Given the description of an element on the screen output the (x, y) to click on. 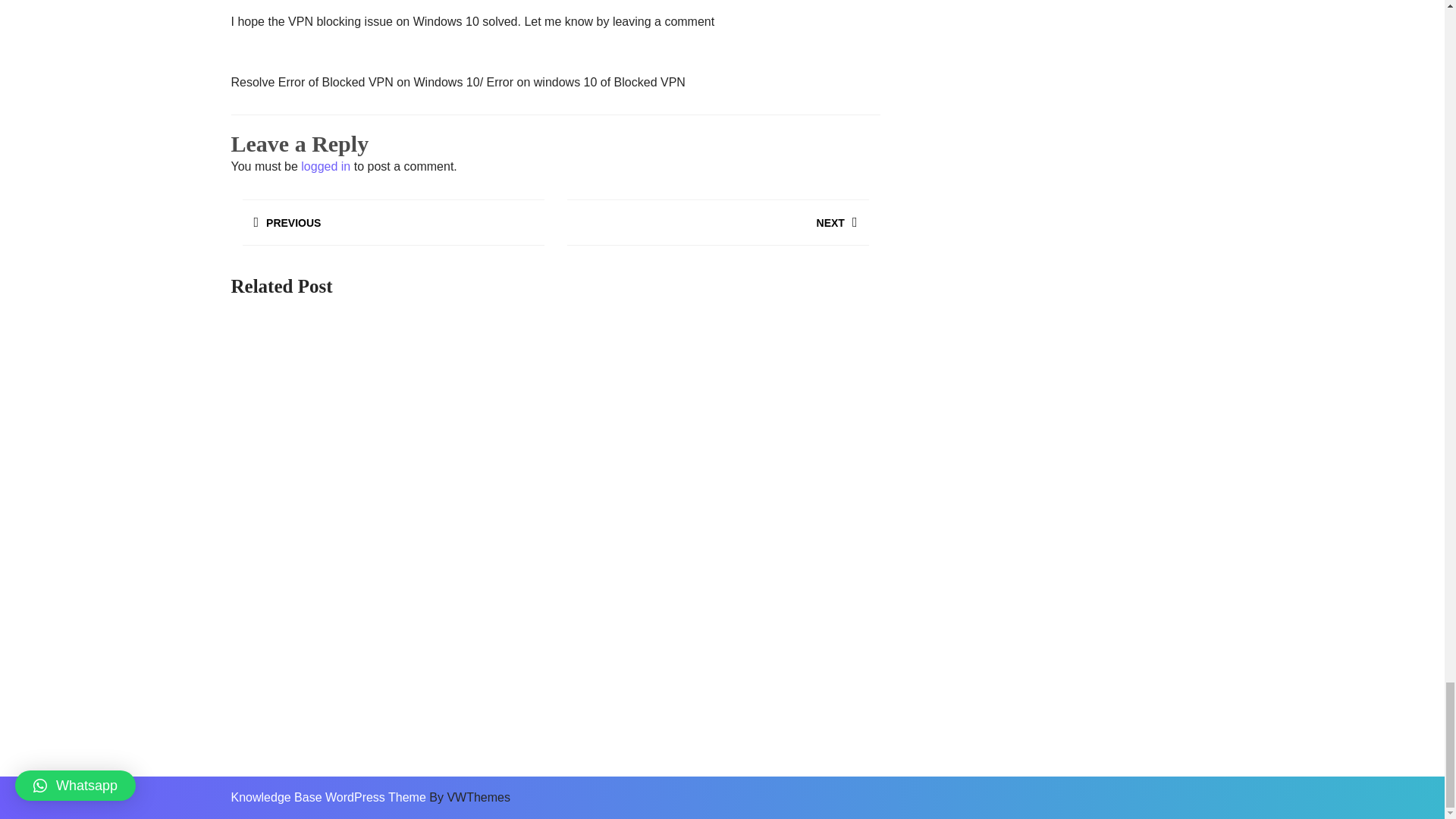
logged in (716, 225)
